Given the description of an element on the screen output the (x, y) to click on. 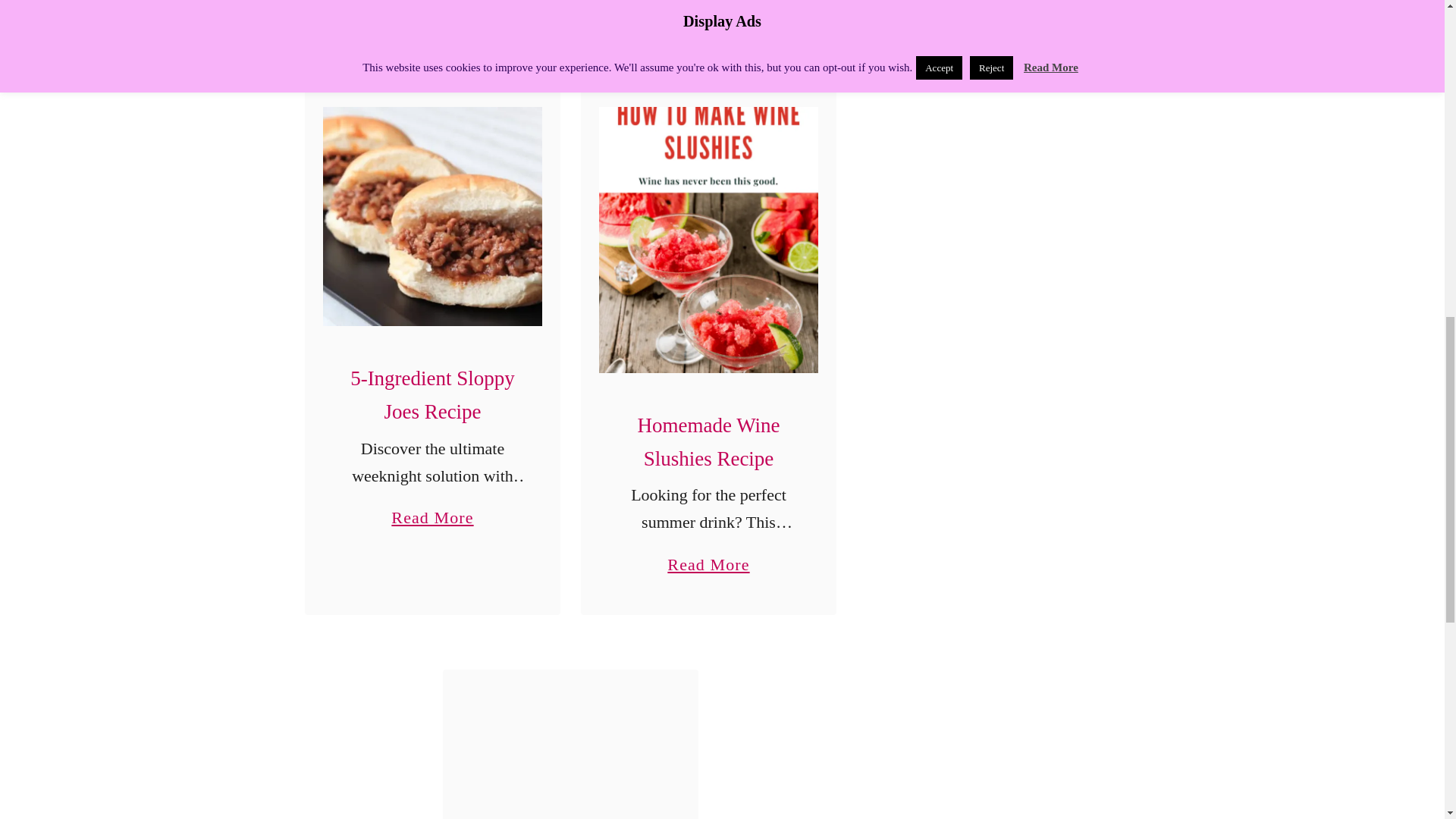
Easy Instant Pot Apple Butter Recipe (707, 557)
5-Ingredient Sloppy Joes Recipe (570, 753)
5-Ingredient Sloppy Joes Recipe (432, 394)
Homemade Wine Slushies Recipe (432, 216)
